Given the description of an element on the screen output the (x, y) to click on. 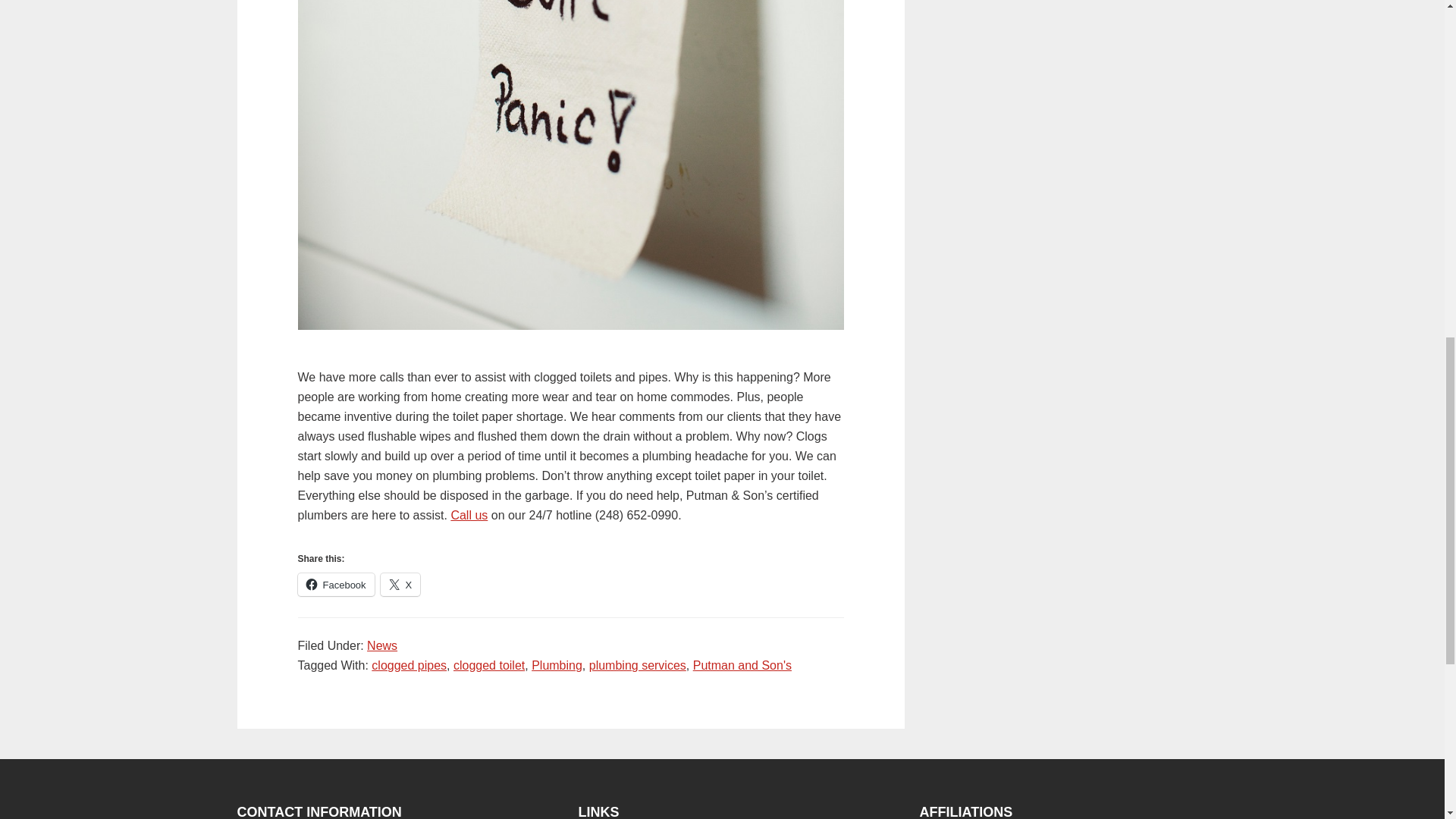
Click to share on Facebook (335, 584)
Click to share on X (400, 584)
